Given the description of an element on the screen output the (x, y) to click on. 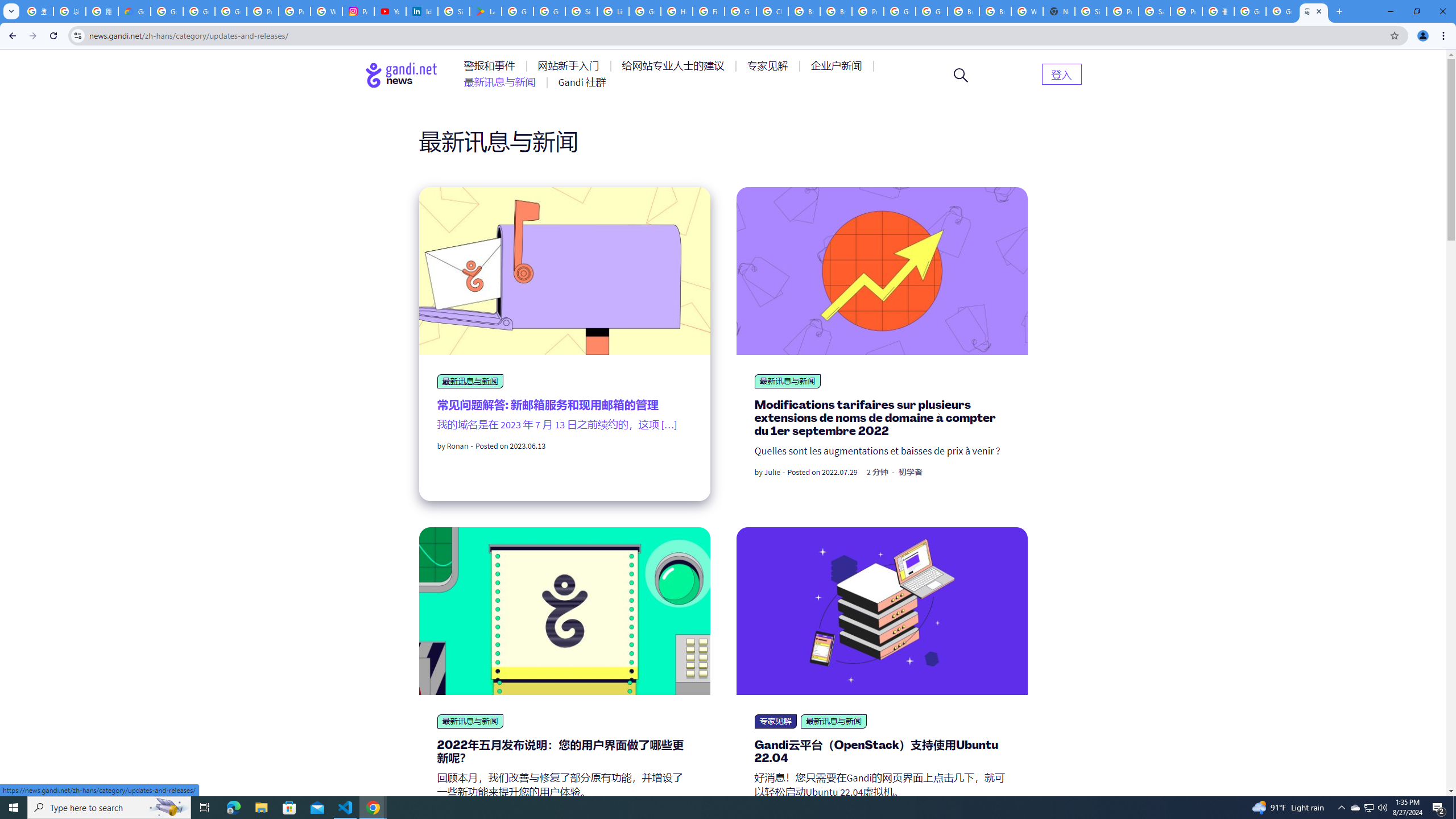
New Tab (1059, 11)
Browse Chrome as a guest - Computer - Google Chrome Help (804, 11)
Julie (772, 471)
